Given the description of an element on the screen output the (x, y) to click on. 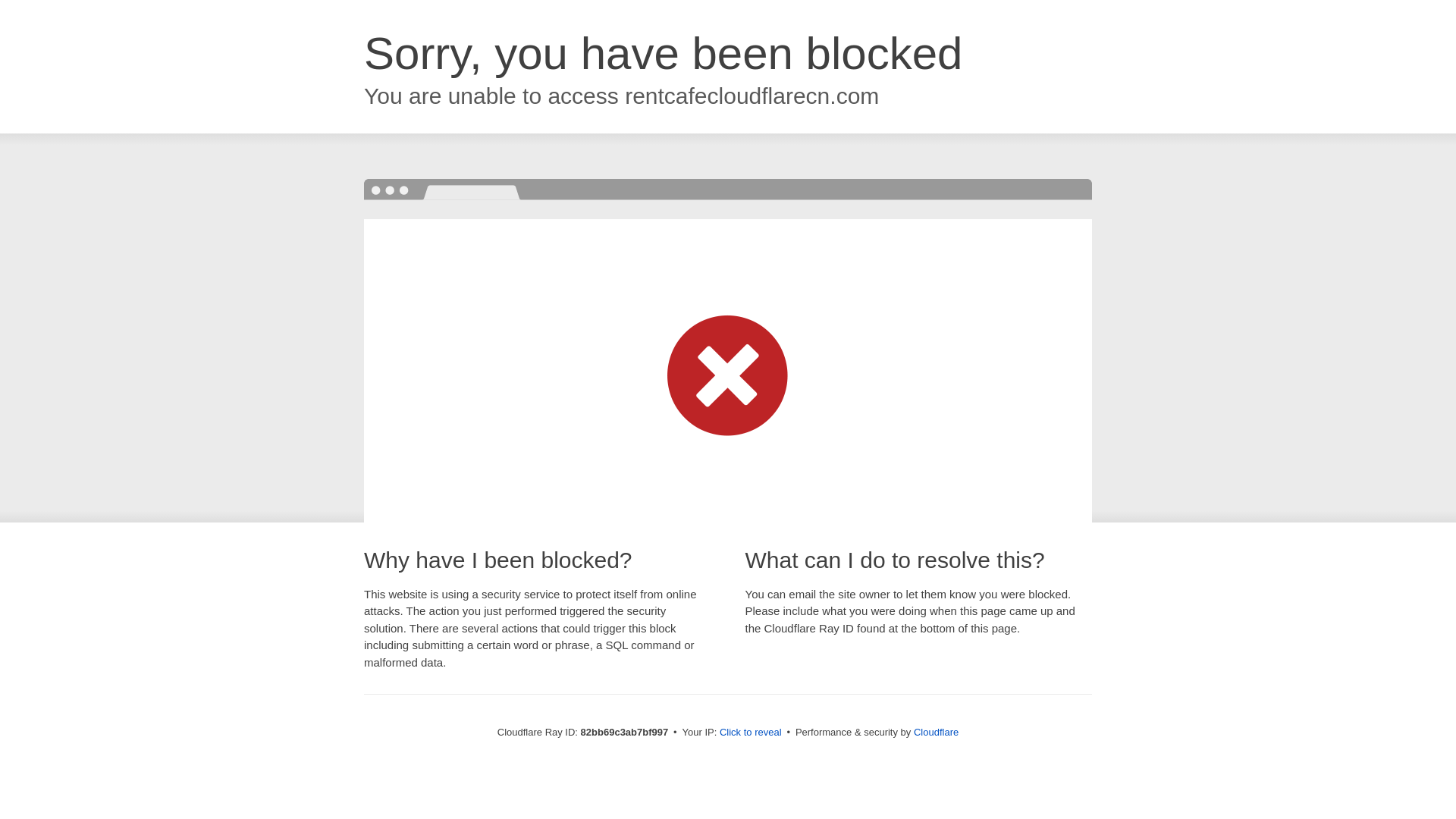
Click to reveal Element type: text (750, 732)
Cloudflare Element type: text (935, 731)
